Given the description of an element on the screen output the (x, y) to click on. 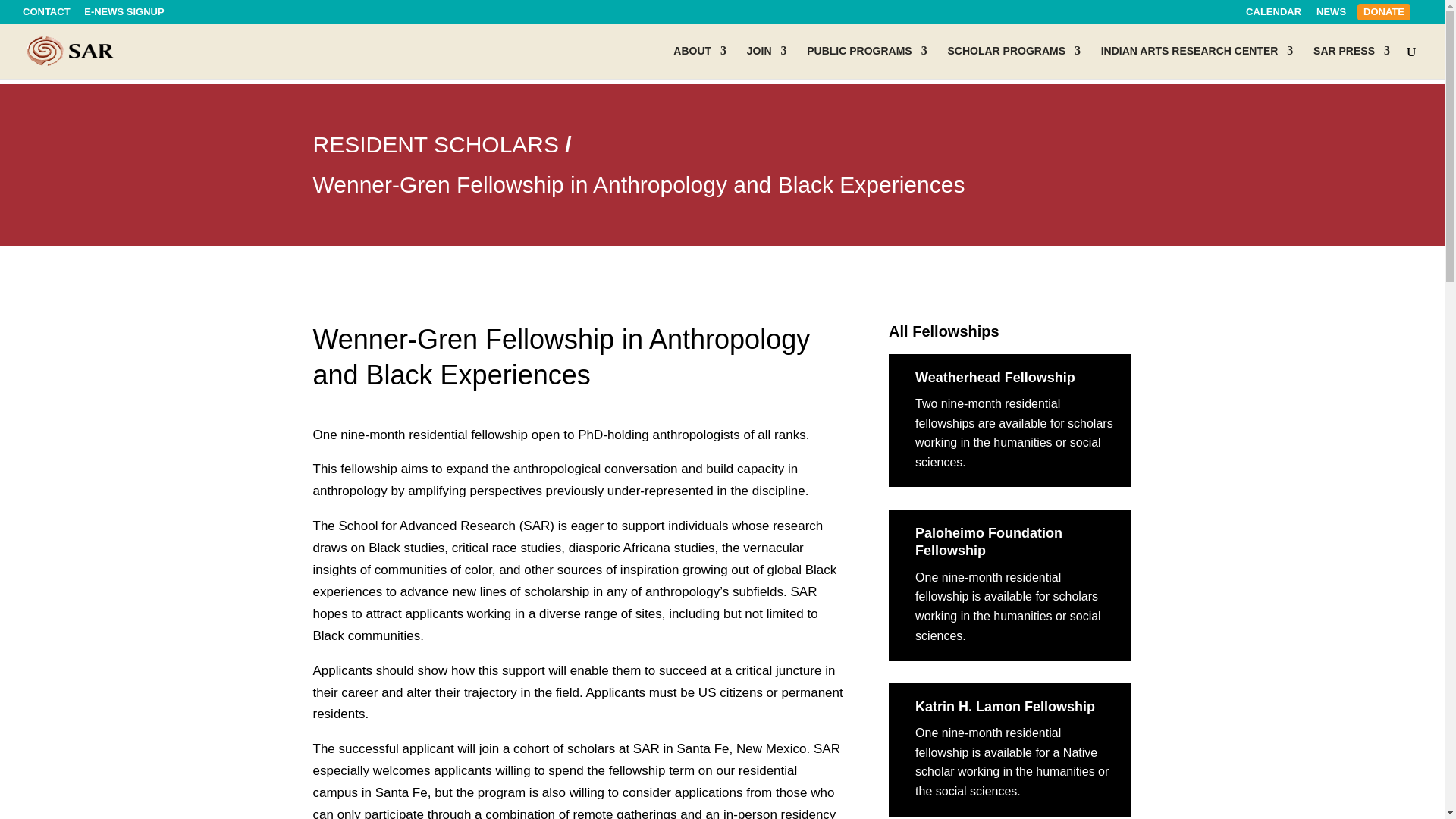
ABOUT (699, 61)
JOIN (766, 61)
NEWS (1330, 15)
CALENDAR (1273, 15)
DONATE (1383, 12)
CONTACT (46, 15)
E-NEWS SIGNUP (123, 15)
